Given the description of an element on the screen output the (x, y) to click on. 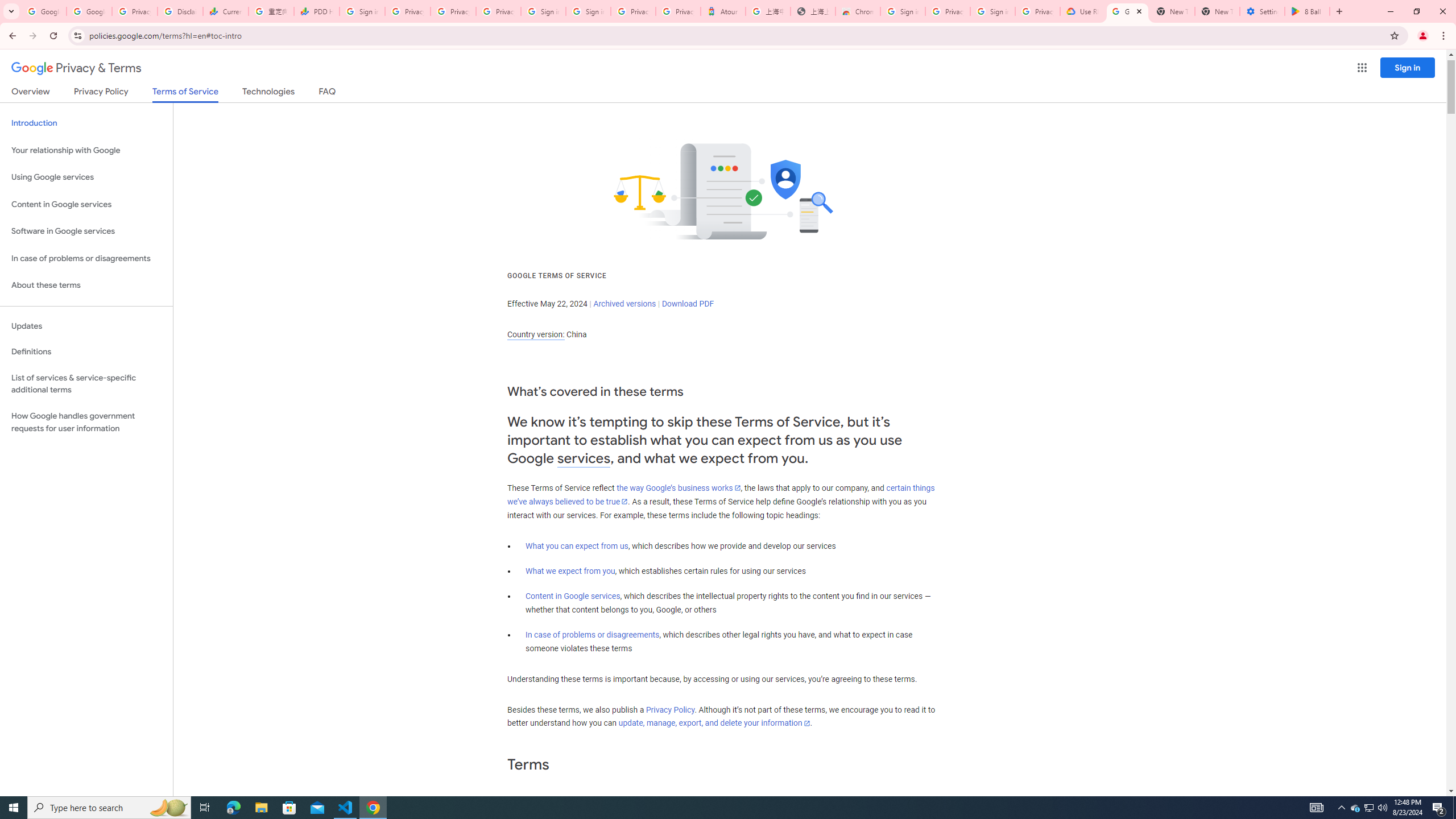
PyCharm 2022.2 (163, 487)
2312.03032v2.pdf (1275, 254)
Visual Studio 2022 (32, 260)
